Given the description of an element on the screen output the (x, y) to click on. 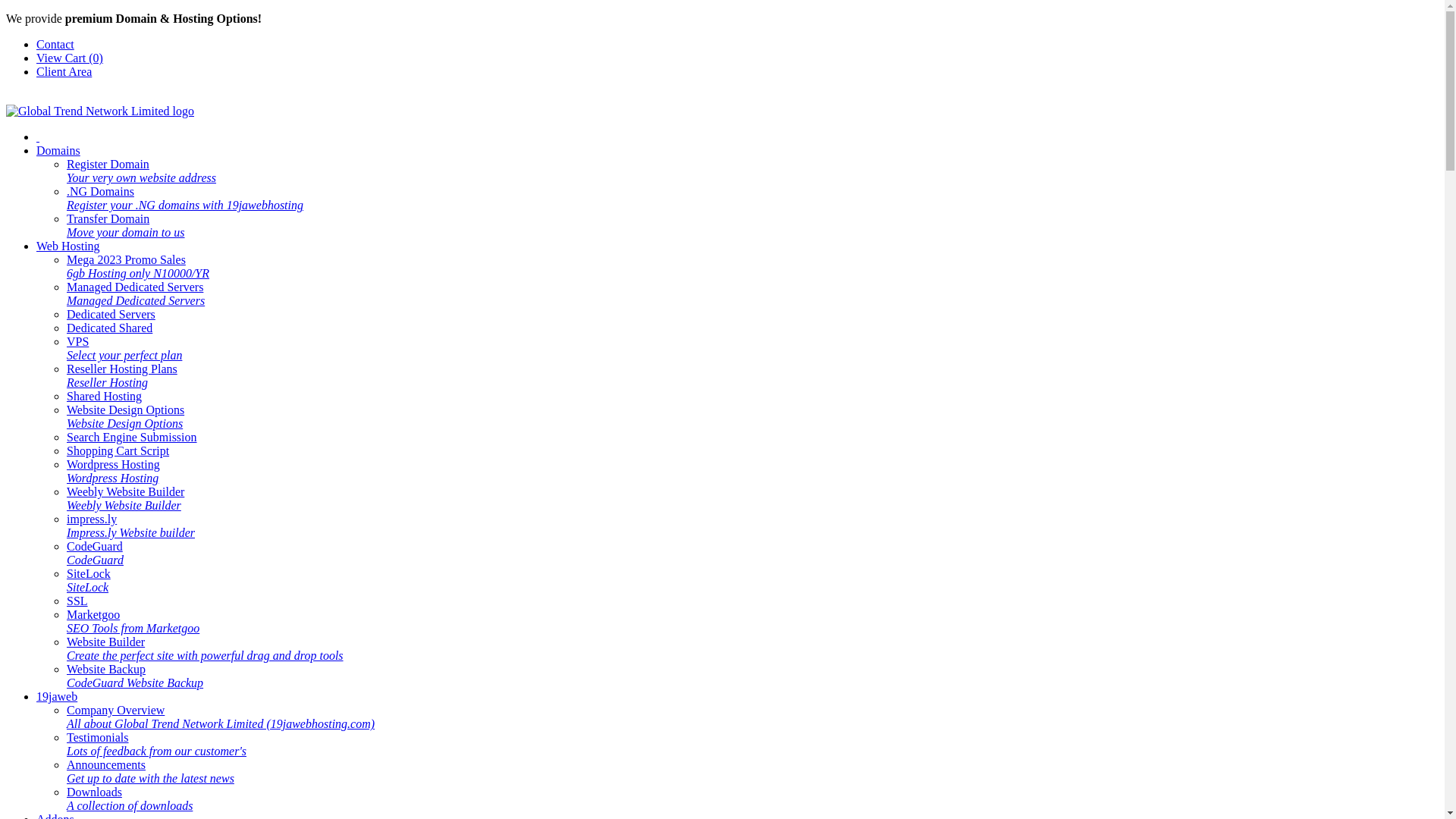
impress.ly
Impress.ly Website builder Element type: text (130, 525)
Mega 2023 Promo Sales
6gb Hosting only N10000/YR Element type: text (137, 266)
Domains Element type: text (58, 150)
Wordpress Hosting
Wordpress Hosting Element type: text (113, 471)
Dedicated Shared Element type: text (109, 327)
VPS
Select your perfect plan Element type: text (124, 348)
Dedicated Servers Element type: text (110, 313)
Marketgoo
SEO Tools from Marketgoo Element type: text (132, 621)
Register Domain
Your very own website address Element type: text (141, 170)
Transfer Domain
Move your domain to us Element type: text (125, 225)
Reseller Hosting Plans
Reseller Hosting Element type: text (121, 375)
Downloads
A collection of downloads Element type: text (129, 798)
SiteLock
SiteLock Element type: text (88, 580)
Contact Element type: text (55, 43)
CodeGuard
CodeGuard Element type: text (94, 552)
.NG Domains
Register your .NG domains with 19jawebhosting Element type: text (184, 198)
Testimonials
Lots of feedback from our customer's Element type: text (156, 744)
Search Engine Submission Element type: text (131, 436)
  Element type: text (37, 136)
Announcements
Get up to date with the latest news Element type: text (150, 771)
19jaweb Element type: text (56, 696)
Client Area Element type: text (63, 71)
SSL Element type: text (76, 600)
Shared Hosting Element type: text (103, 395)
Weebly Website Builder
Weebly Website Builder Element type: text (125, 498)
Website Design Options
Website Design Options Element type: text (125, 416)
Website Backup
CodeGuard Website Backup Element type: text (134, 675)
Web Hosting Element type: text (68, 245)
View Cart (0) Element type: text (69, 57)
Managed Dedicated Servers
Managed Dedicated Servers Element type: text (135, 293)
Shopping Cart Script Element type: text (117, 450)
